Given the description of an element on the screen output the (x, y) to click on. 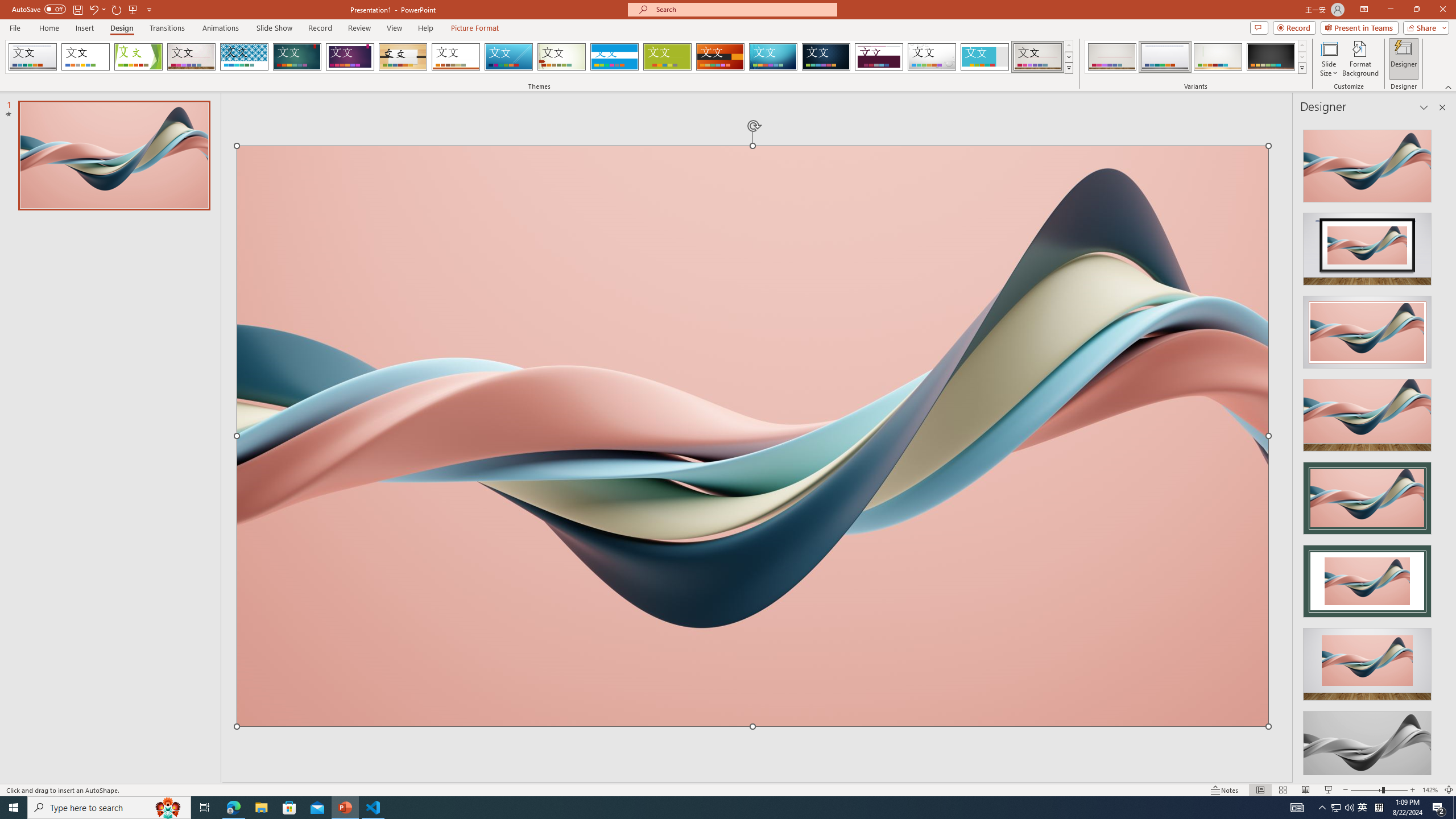
Berlin (720, 56)
Zoom 142% (1430, 790)
AfterglowVTI (32, 56)
Ion Boardroom (350, 56)
